Given the description of an element on the screen output the (x, y) to click on. 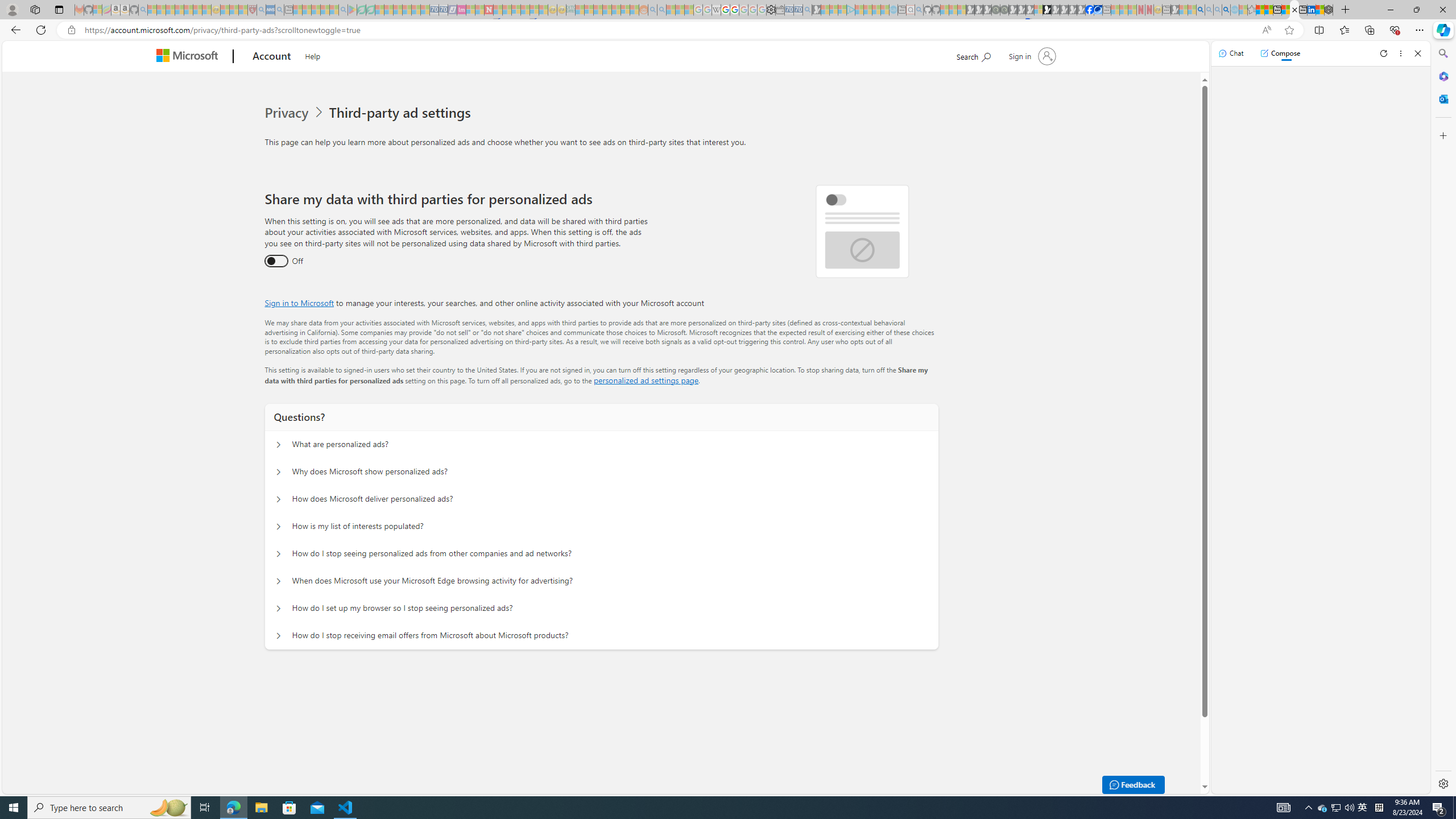
Third party data sharing toggle (276, 260)
Aberdeen, Hong Kong SAR weather forecast | Microsoft Weather (1268, 9)
Account (272, 56)
Privacy Help Center - Policies Help (725, 9)
Questions? Why does Microsoft show personalized ads? (278, 472)
